Given the description of an element on the screen output the (x, y) to click on. 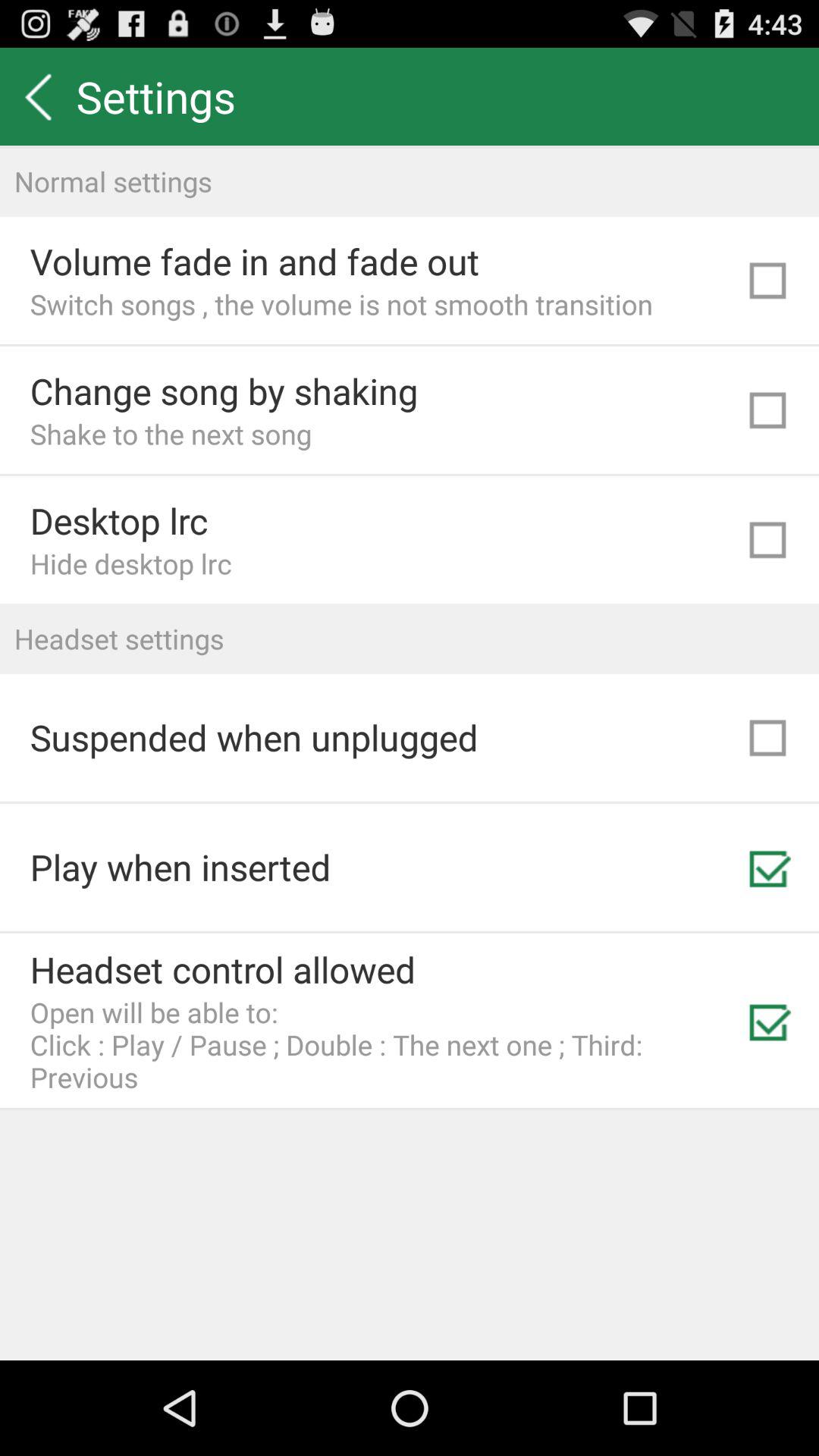
turn on the normal settings item (409, 181)
